Given the description of an element on the screen output the (x, y) to click on. 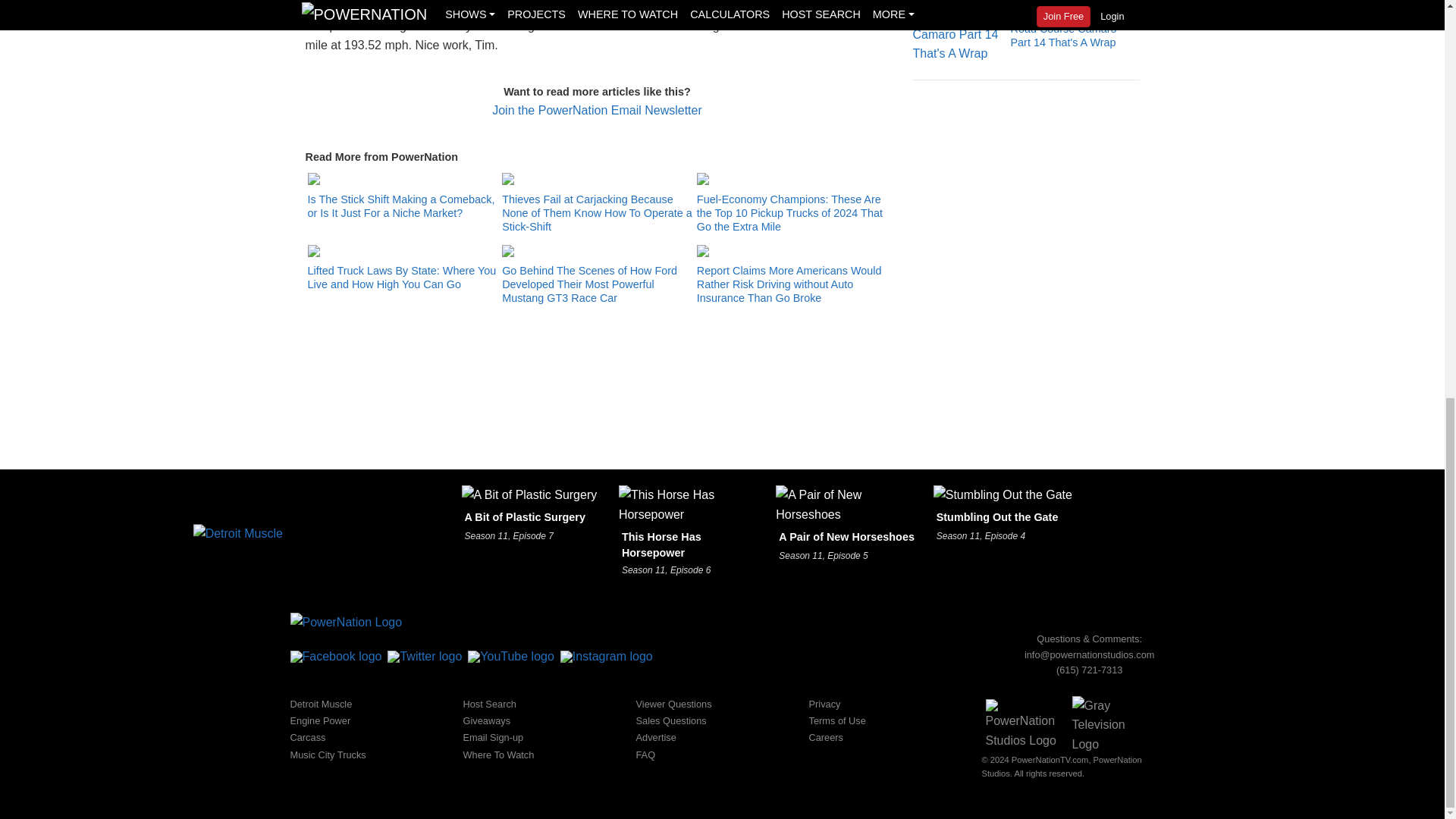
Follow PowerNation TV on Facebook (335, 656)
Follow PowerNation TV on Twitter (424, 656)
Subscribe to PowerNation TV on YouTube (510, 656)
PowerNation home (345, 621)
Follow PowerNation TV on Instagram (606, 656)
Join the PowerNation Email Newsletter (596, 110)
